Given the description of an element on the screen output the (x, y) to click on. 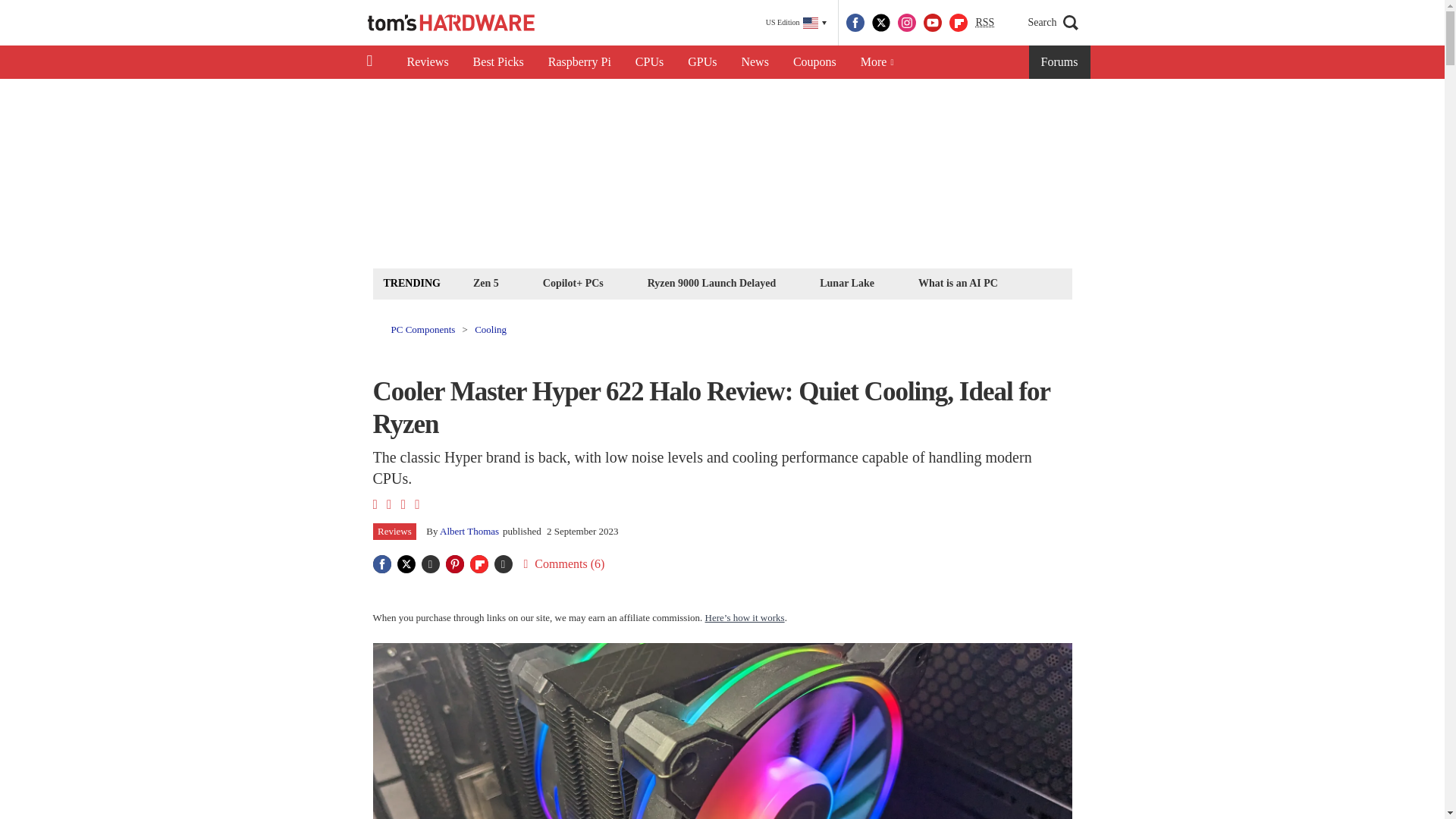
GPUs (702, 61)
Coupons (814, 61)
Forums (1059, 61)
Reviews (427, 61)
Raspberry Pi (579, 61)
CPUs (649, 61)
Zen 5 (485, 282)
Really Simple Syndication (984, 21)
US Edition (796, 22)
RSS (984, 22)
Best Picks (498, 61)
News (754, 61)
